Given the description of an element on the screen output the (x, y) to click on. 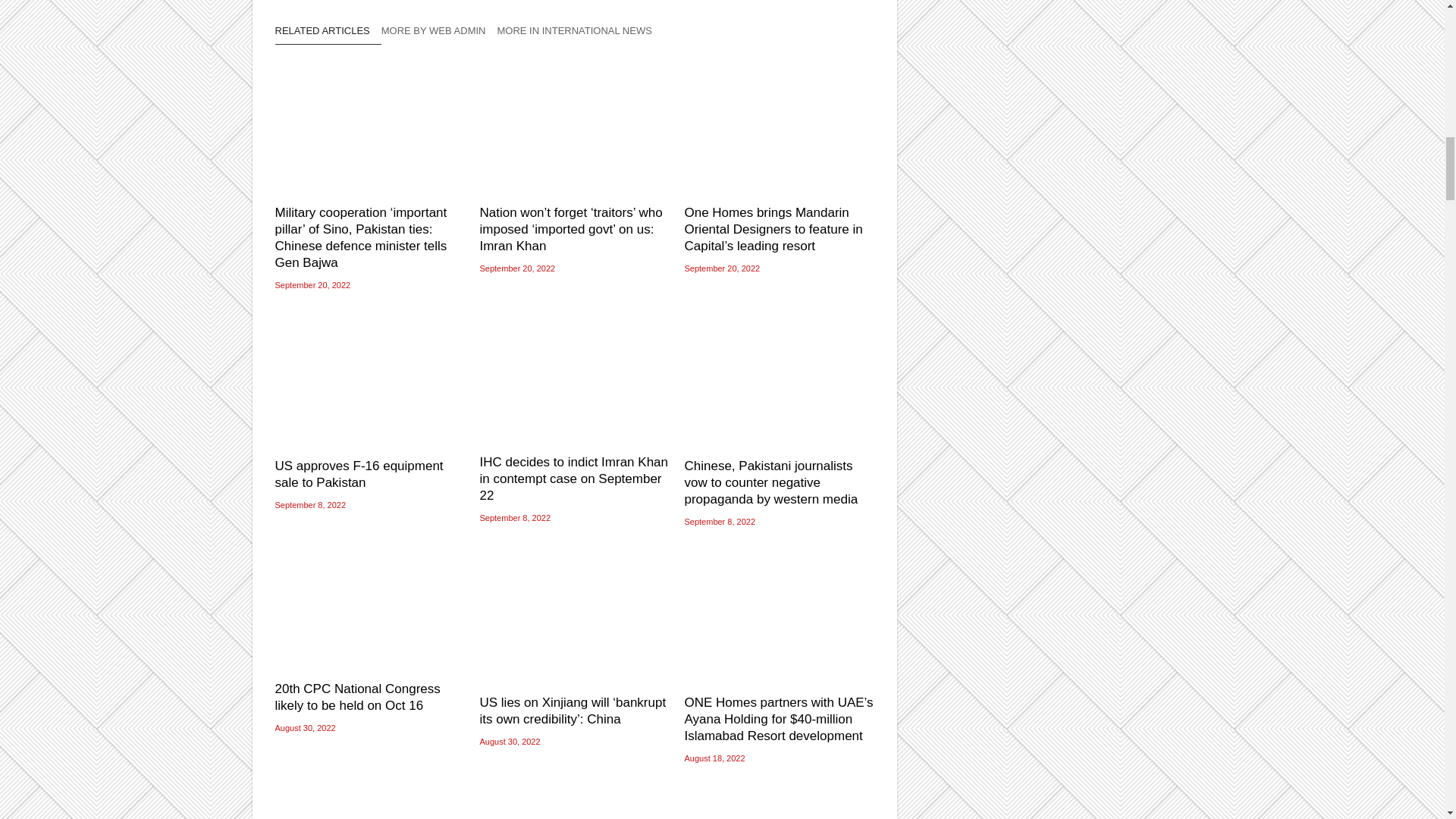
MORE IN INTERNATIONAL NEWS (579, 34)
RELATED ARTICLES (327, 34)
MORE BY WEB ADMIN (439, 34)
